Given the description of an element on the screen output the (x, y) to click on. 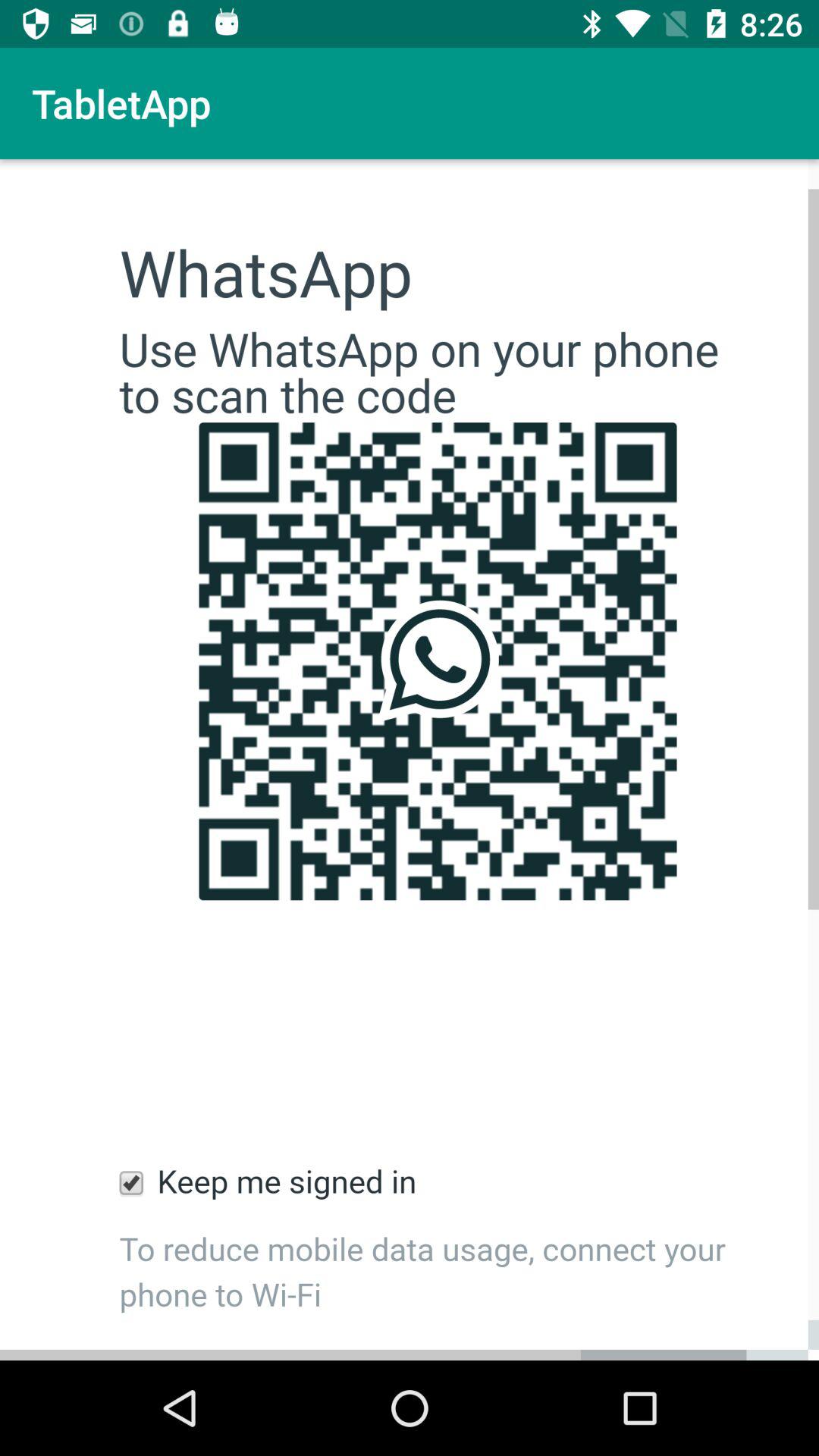
scan bar code (409, 759)
